Given the description of an element on the screen output the (x, y) to click on. 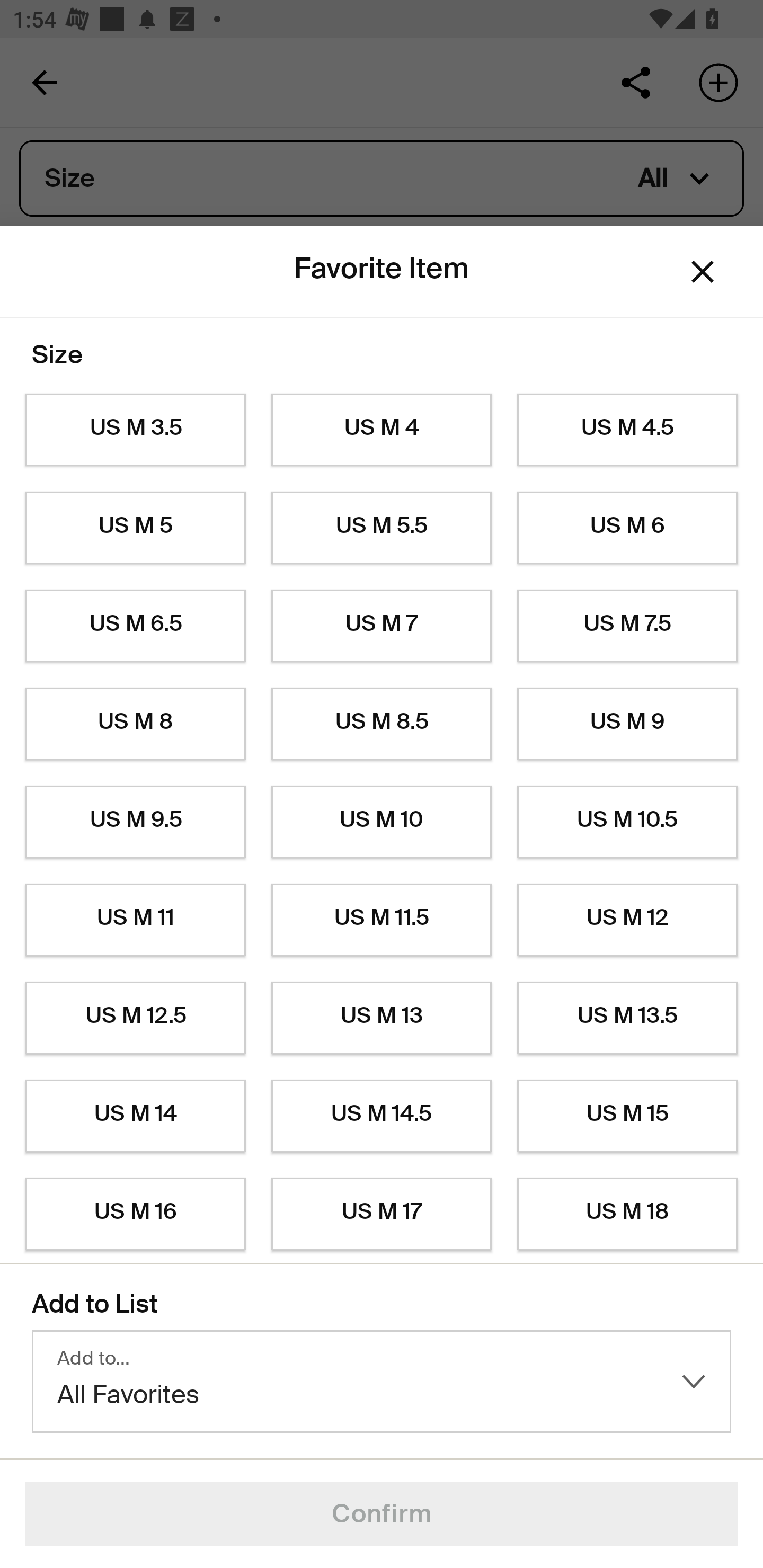
Dismiss (702, 271)
US M 3.5 (135, 430)
US M 4 (381, 430)
US M 4.5 (627, 430)
US M 5 (135, 527)
US M 5.5 (381, 527)
US M 6 (627, 527)
US M 6.5 (135, 626)
US M 7 (381, 626)
US M 7.5 (627, 626)
US M 8 (135, 724)
US M 8.5 (381, 724)
US M 9 (627, 724)
US M 9.5 (135, 822)
US M 10 (381, 822)
US M 10.5 (627, 822)
US M 11 (135, 919)
US M 11.5 (381, 919)
US M 12 (627, 919)
US M 12.5 (135, 1018)
US M 13 (381, 1018)
US M 13.5 (627, 1018)
US M 14 (135, 1116)
US M 14.5 (381, 1116)
US M 15 (627, 1116)
US M 16 (135, 1214)
US M 17 (381, 1214)
US M 18 (627, 1214)
Add to… All Favorites (381, 1381)
Confirm (381, 1513)
